Given the description of an element on the screen output the (x, y) to click on. 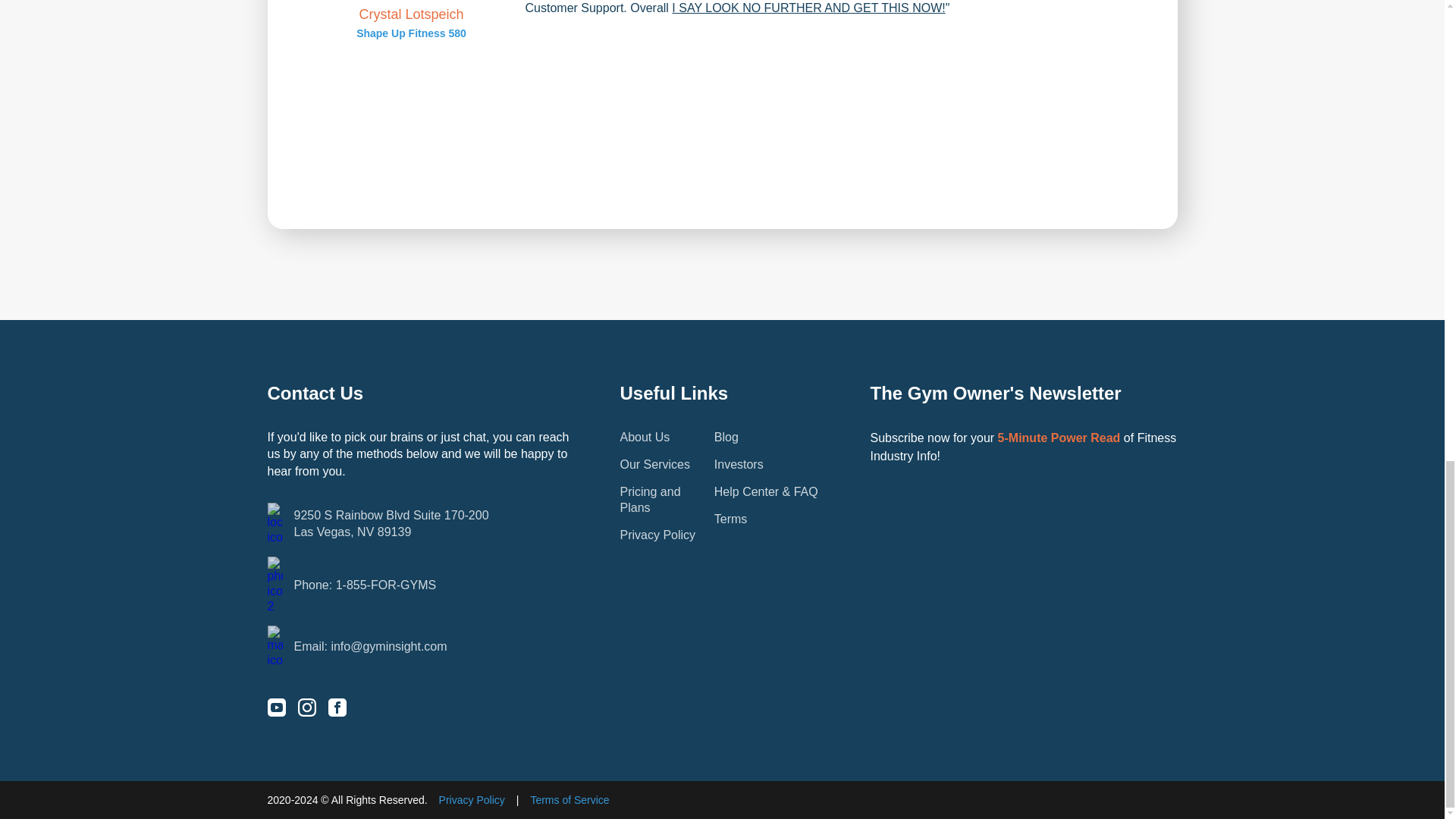
Pricing and Plans (650, 499)
Our Services (655, 463)
Blog (726, 436)
Investors (738, 463)
Phone: 1-855-FOR-GYMS (419, 585)
About Us (644, 436)
Privacy Policy (419, 523)
Terms (657, 534)
Form 0 (731, 518)
